Given the description of an element on the screen output the (x, y) to click on. 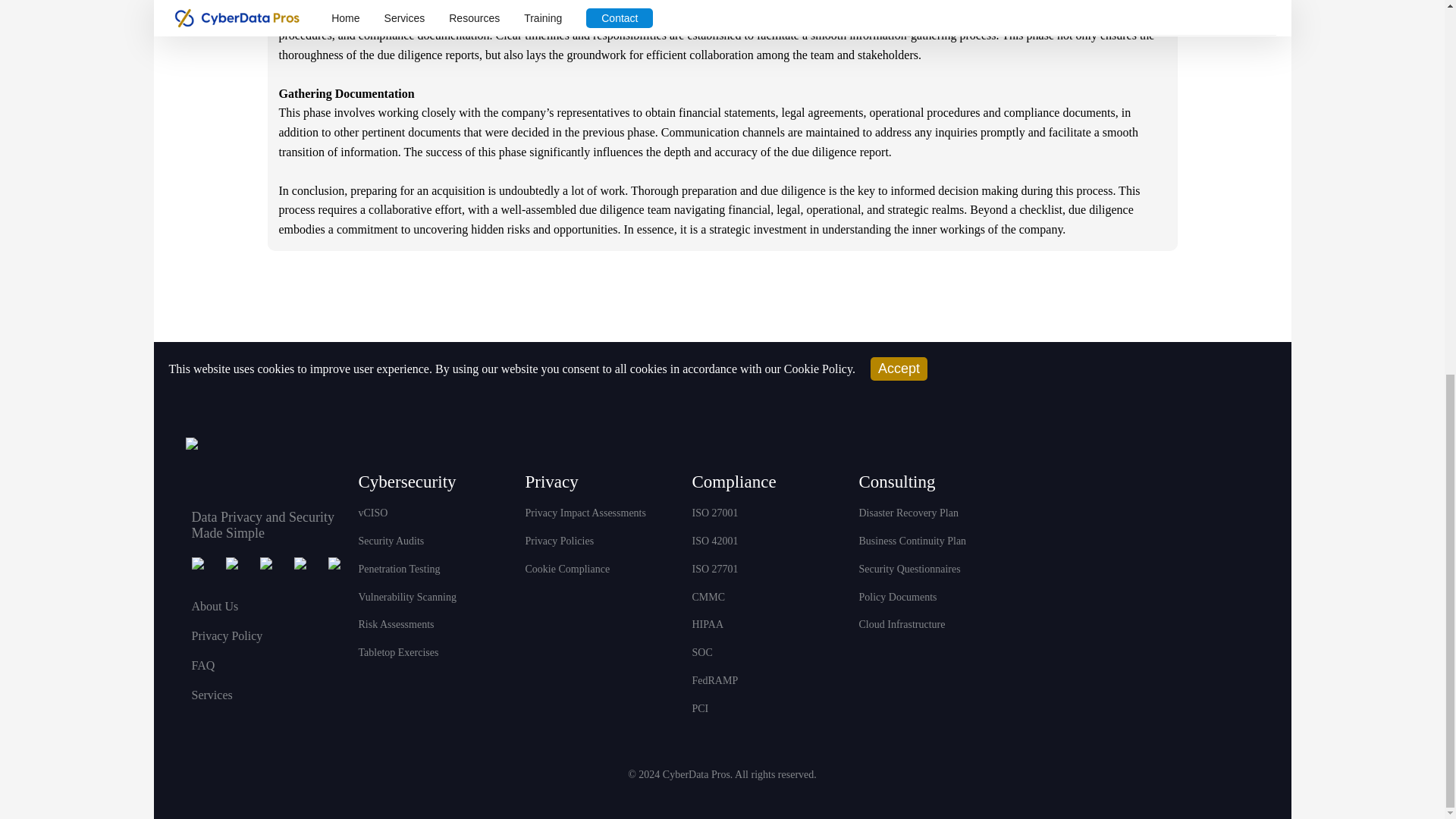
Tabletop Exercises (398, 652)
FedRAMP (714, 680)
SOC (701, 652)
ISO 27701 (714, 568)
ISO 42001 (714, 541)
Privacy Impact Assessments (584, 512)
Security Questionnaires (909, 568)
Risk Assessments (395, 624)
Cookie Compliance (567, 568)
Accept (898, 368)
